Given the description of an element on the screen output the (x, y) to click on. 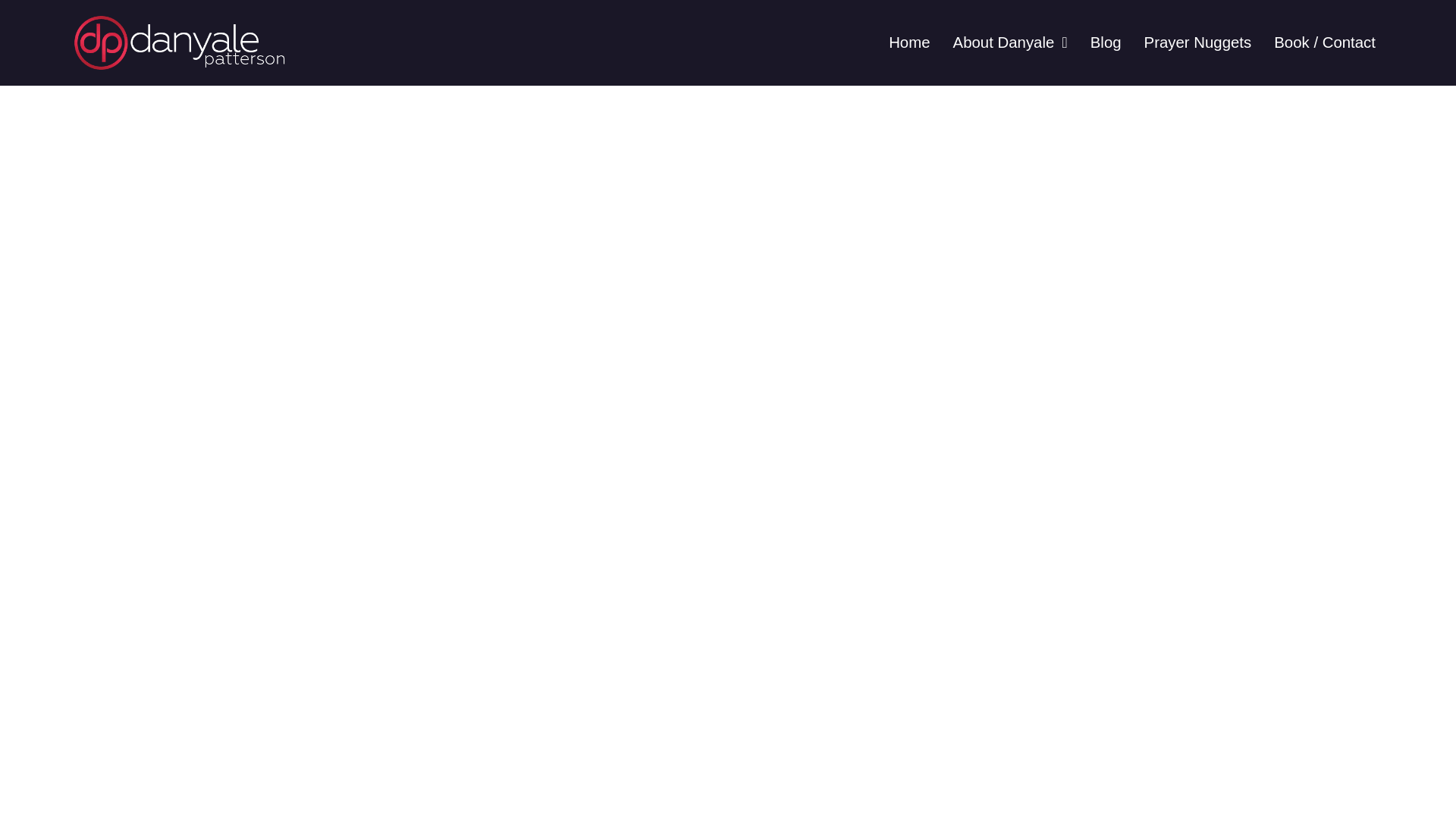
About Danyale (1010, 42)
Home (908, 42)
Blog (1105, 42)
Prayer Nuggets (1197, 42)
